Given the description of an element on the screen output the (x, y) to click on. 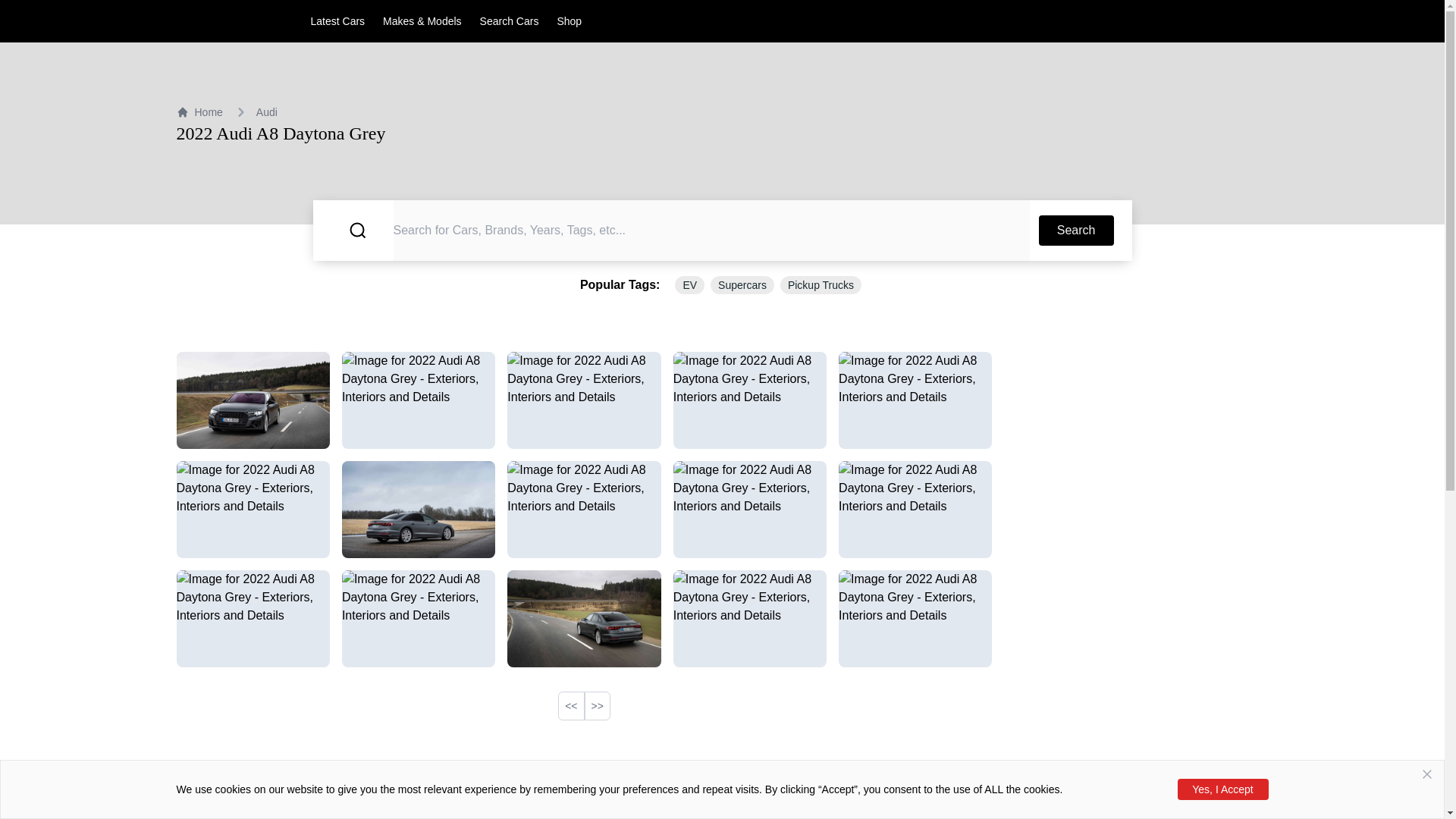
Shop (568, 20)
Search Cars (509, 20)
